Given the description of an element on the screen output the (x, y) to click on. 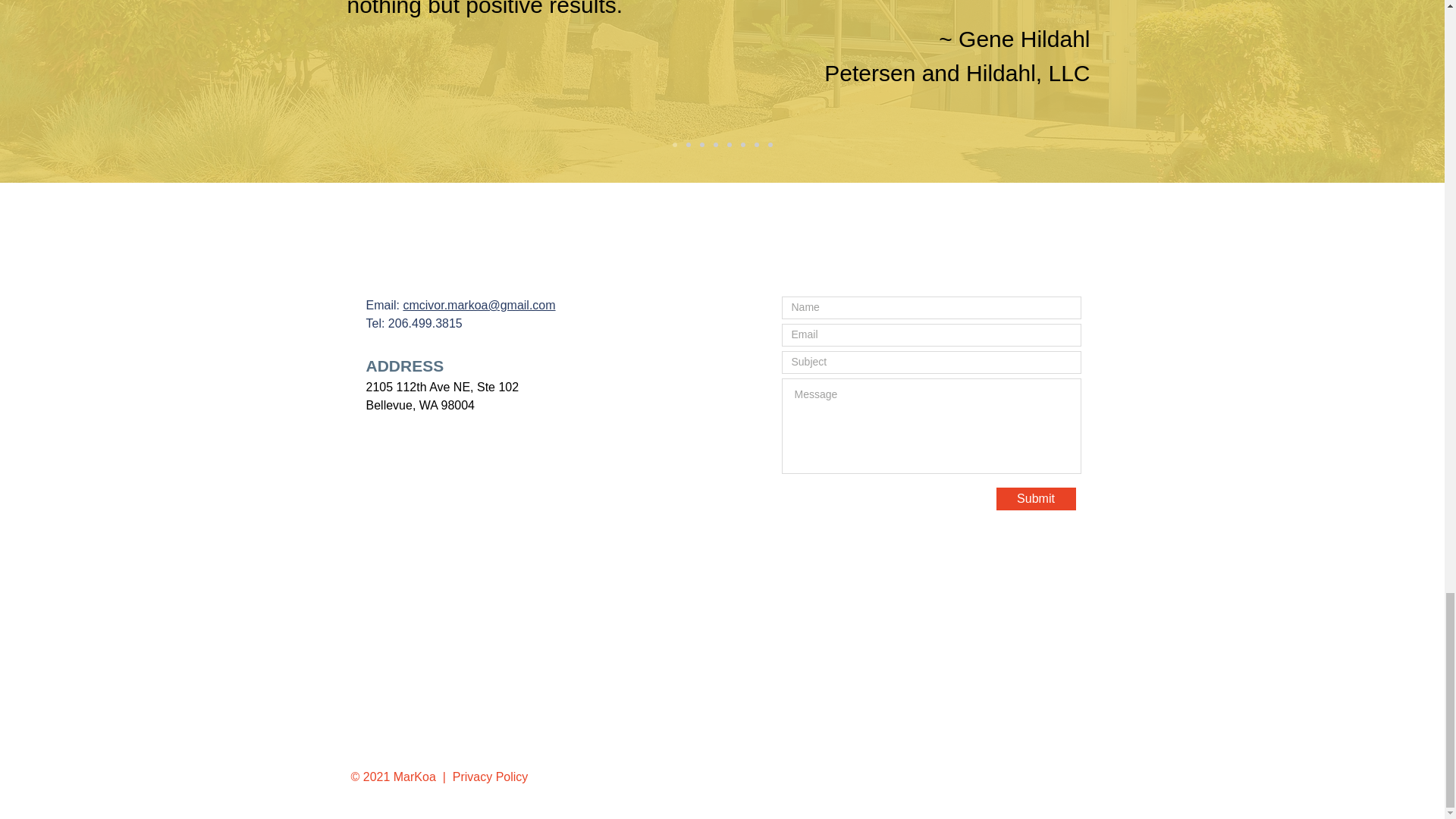
Submit (1035, 498)
Privacy Policy (490, 776)
